Given the description of an element on the screen output the (x, y) to click on. 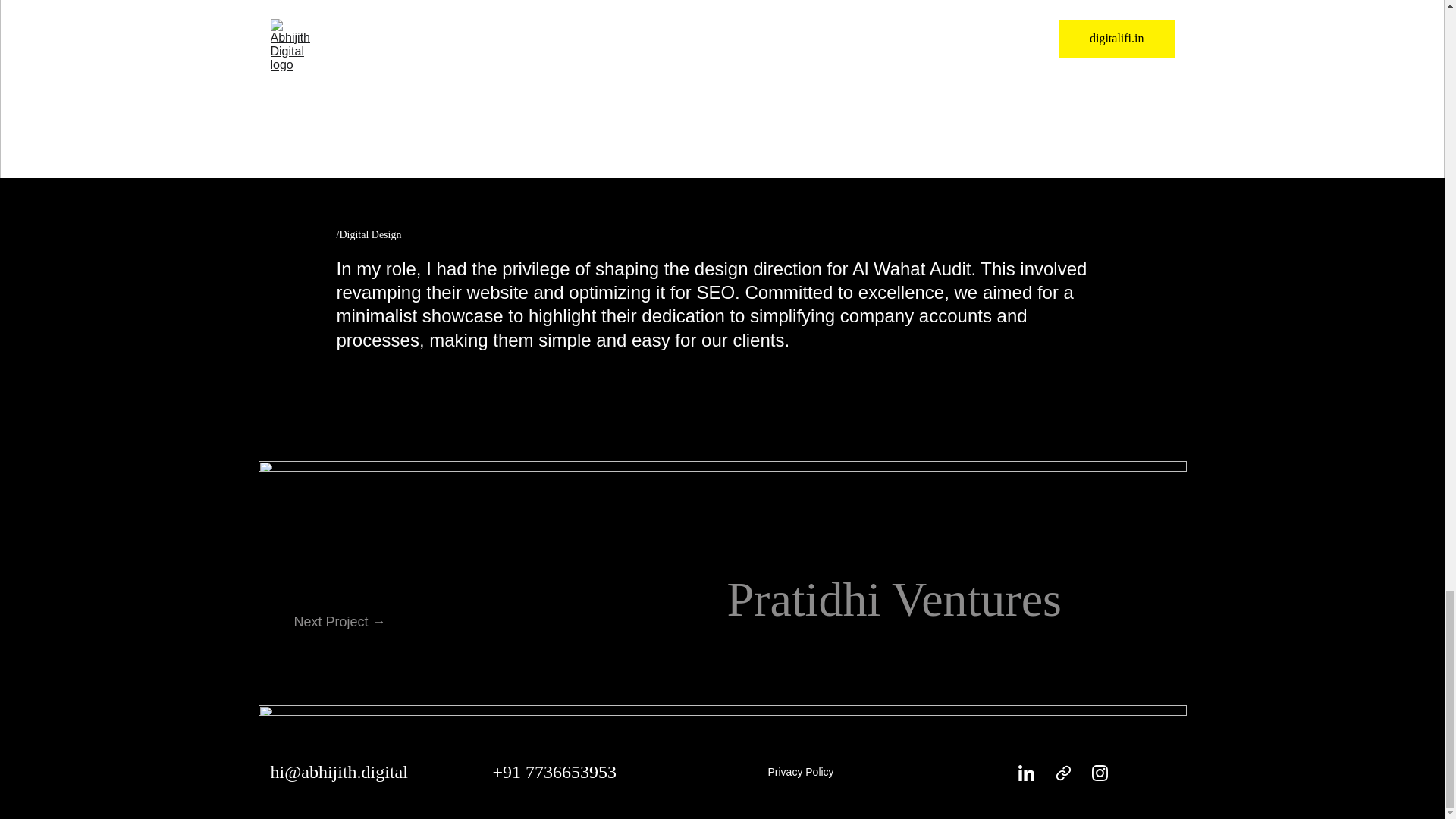
Go to Instagram page (1100, 772)
Privacy Policy (799, 771)
Go to  page (1063, 772)
Pratidhi Ventures (893, 599)
Go to Linkedin-in page (1025, 772)
